Given the description of an element on the screen output the (x, y) to click on. 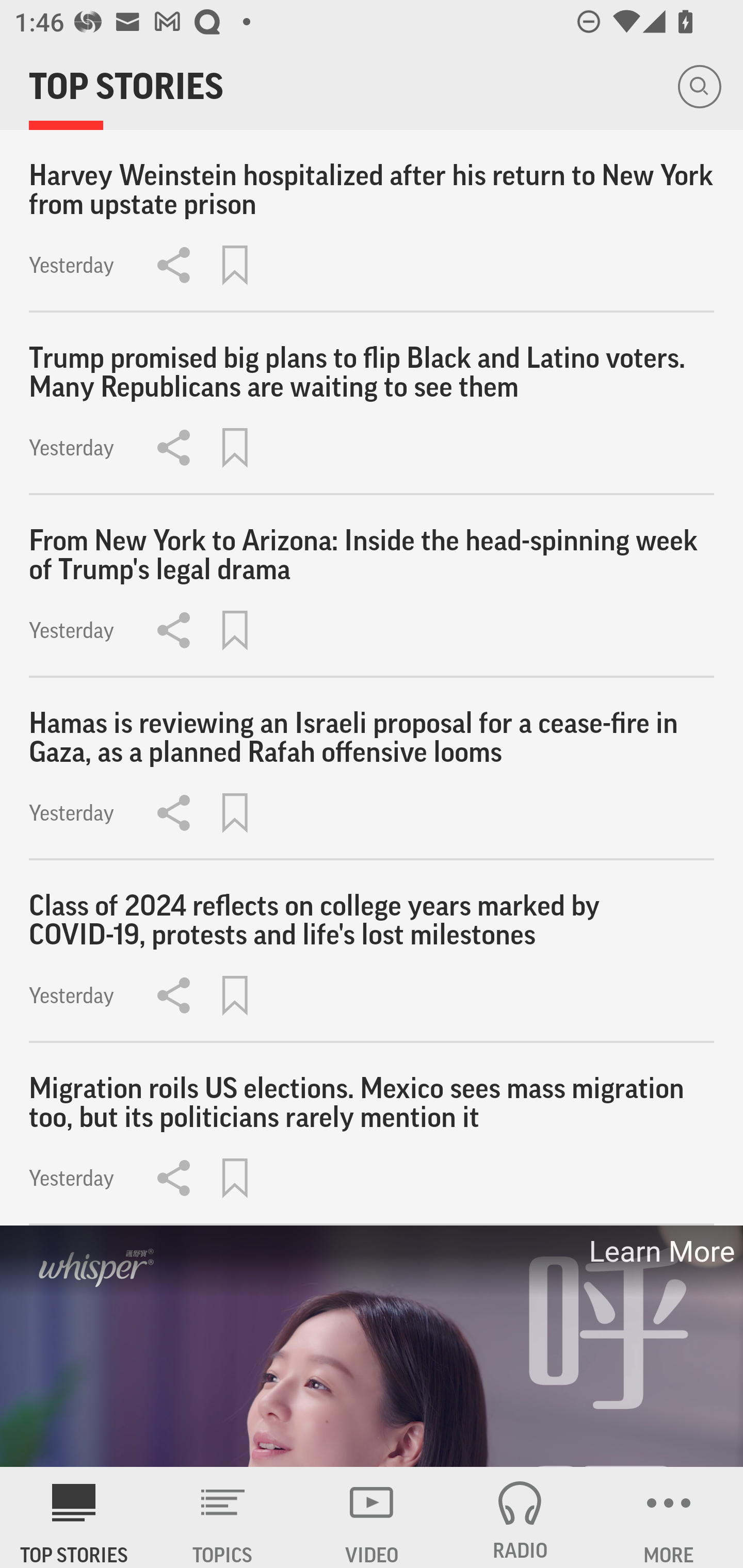
toggle controls (371, 1346)
AP News TOP STORIES (74, 1517)
TOPICS (222, 1517)
VIDEO (371, 1517)
RADIO (519, 1517)
MORE (668, 1517)
